Given the description of an element on the screen output the (x, y) to click on. 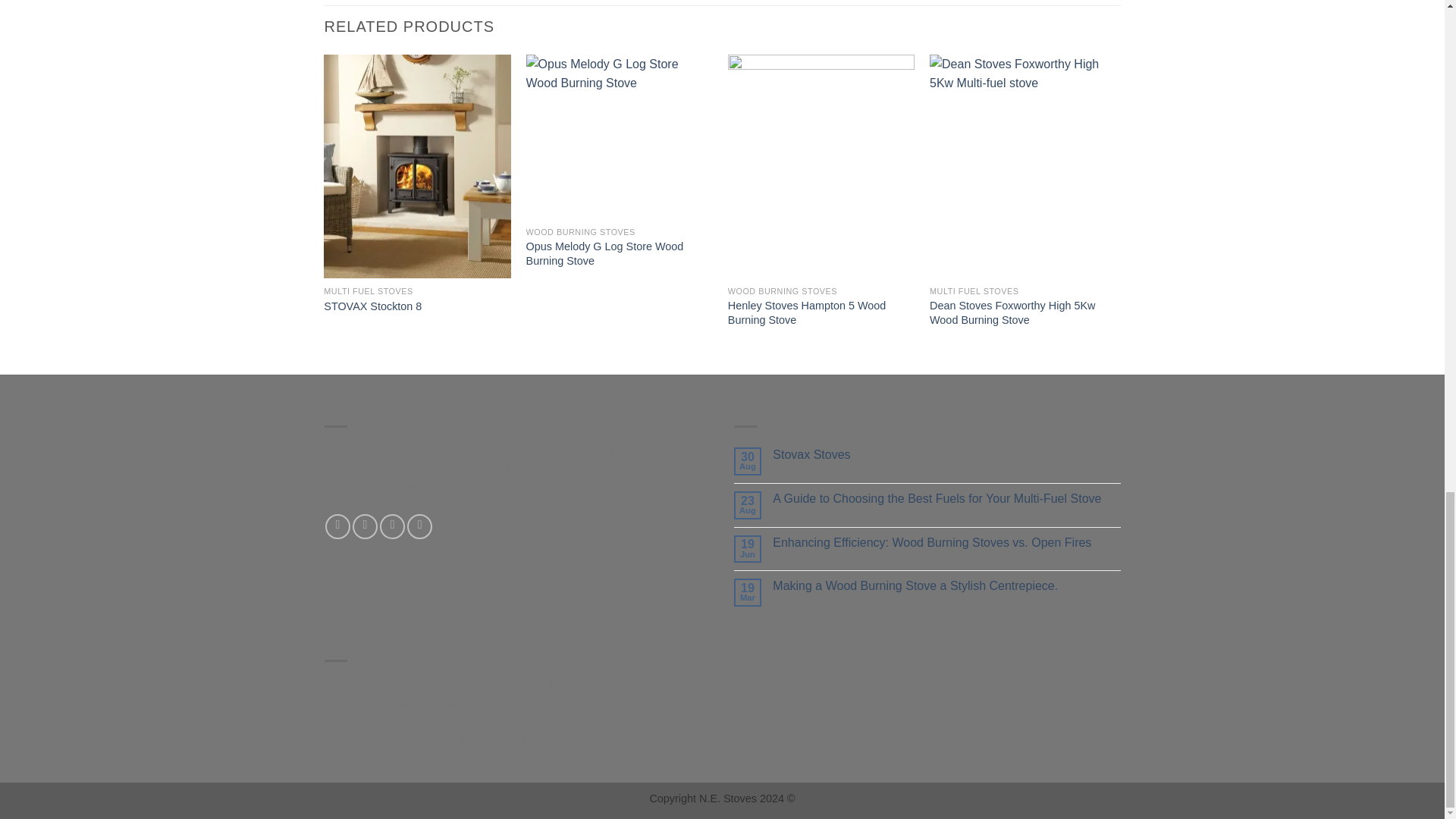
Send us an email (392, 526)
Follow on Instagram (364, 526)
Follow on Facebook (337, 526)
